Given the description of an element on the screen output the (x, y) to click on. 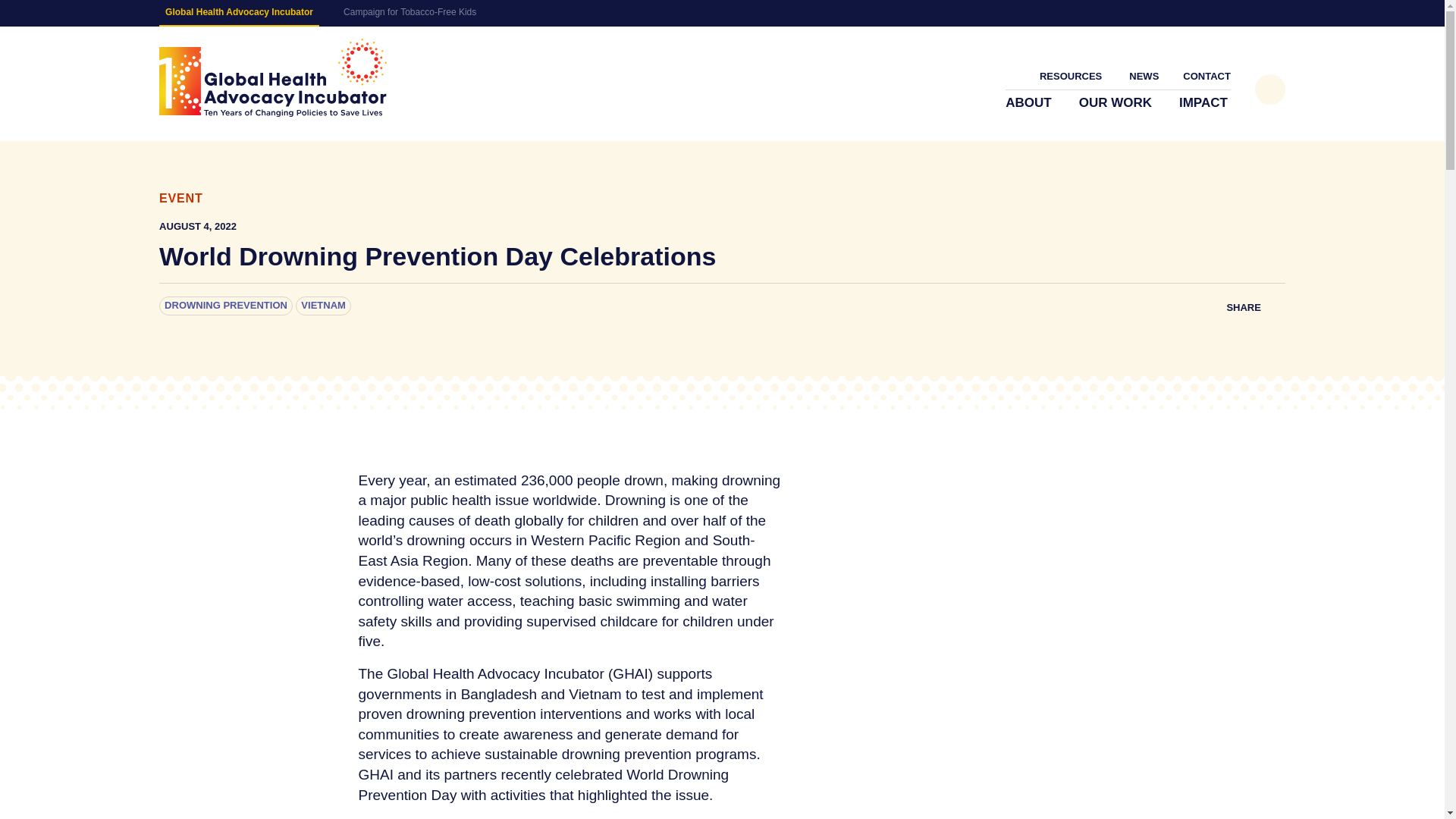
NEWS (1143, 75)
CONTACT (1206, 75)
Campaign for Tobacco-Free Kids (409, 12)
Global Health Advocacy Incubator (272, 77)
Global Health Advocacy Incubator (238, 13)
OUR WORK (1116, 103)
RESOURCES (1072, 76)
ABOUT (1030, 103)
